Given the description of an element on the screen output the (x, y) to click on. 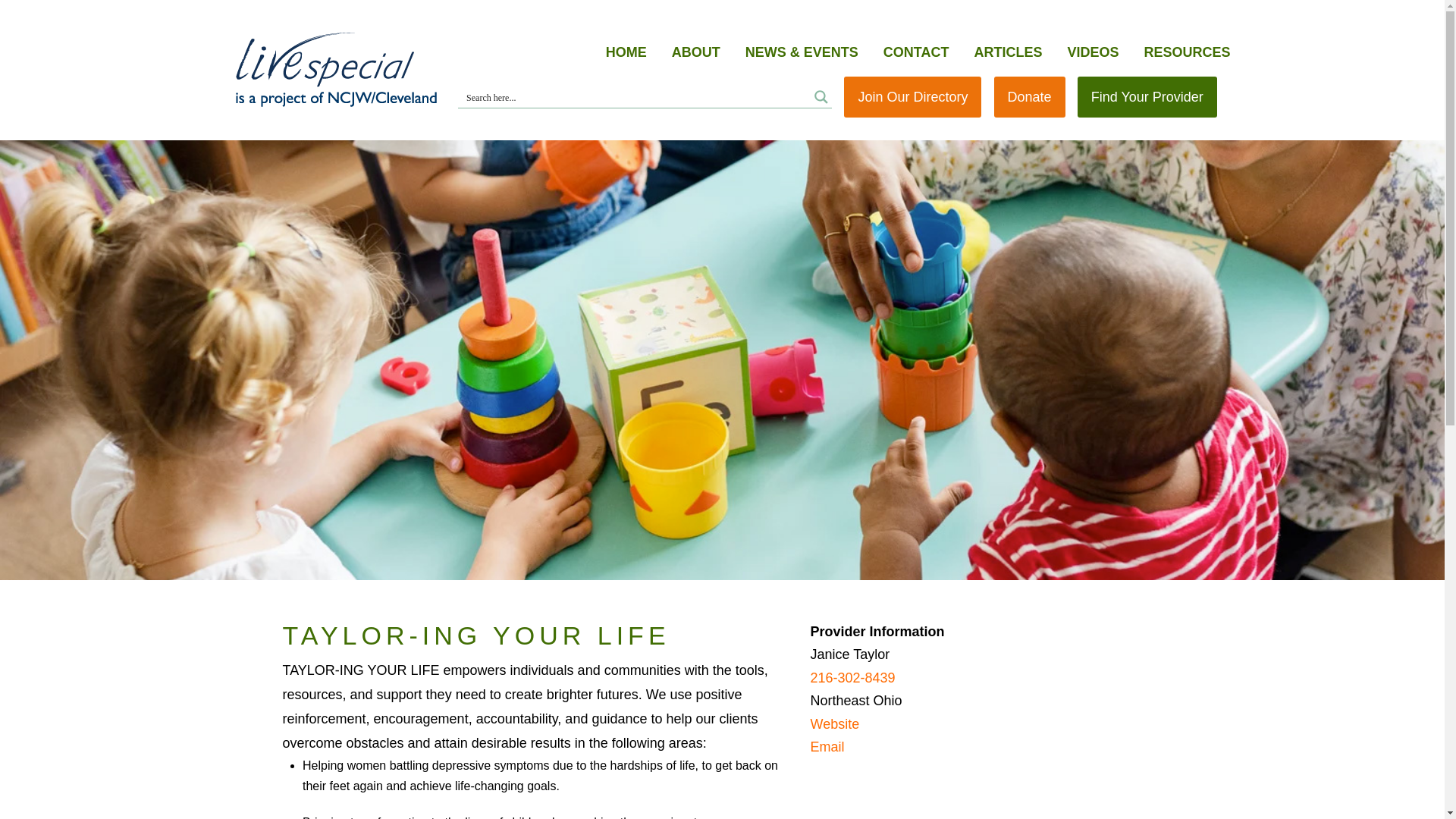
216-302-8439 (852, 677)
ABOUT (695, 52)
Donate (1029, 96)
CONTACT (916, 52)
Email (826, 746)
HOME (625, 52)
Join Our Directory (912, 96)
Website (834, 724)
ARTICLES (1008, 52)
Find Your Provider (1147, 96)
VIDEOS (1092, 52)
RESOURCES (1186, 52)
